Given the description of an element on the screen output the (x, y) to click on. 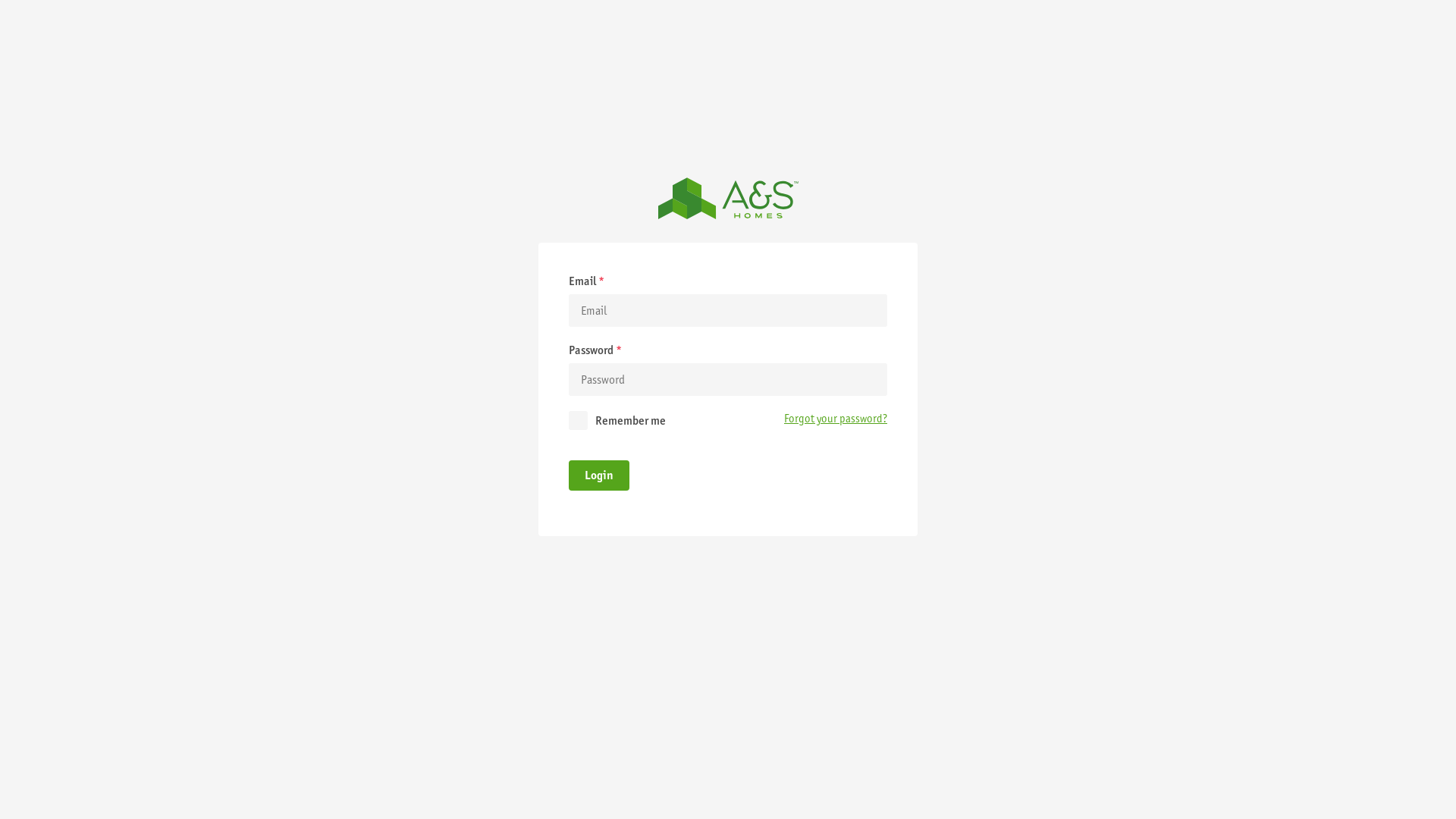
Forgot your password? Element type: text (835, 418)
Login Element type: text (598, 475)
